Given the description of an element on the screen output the (x, y) to click on. 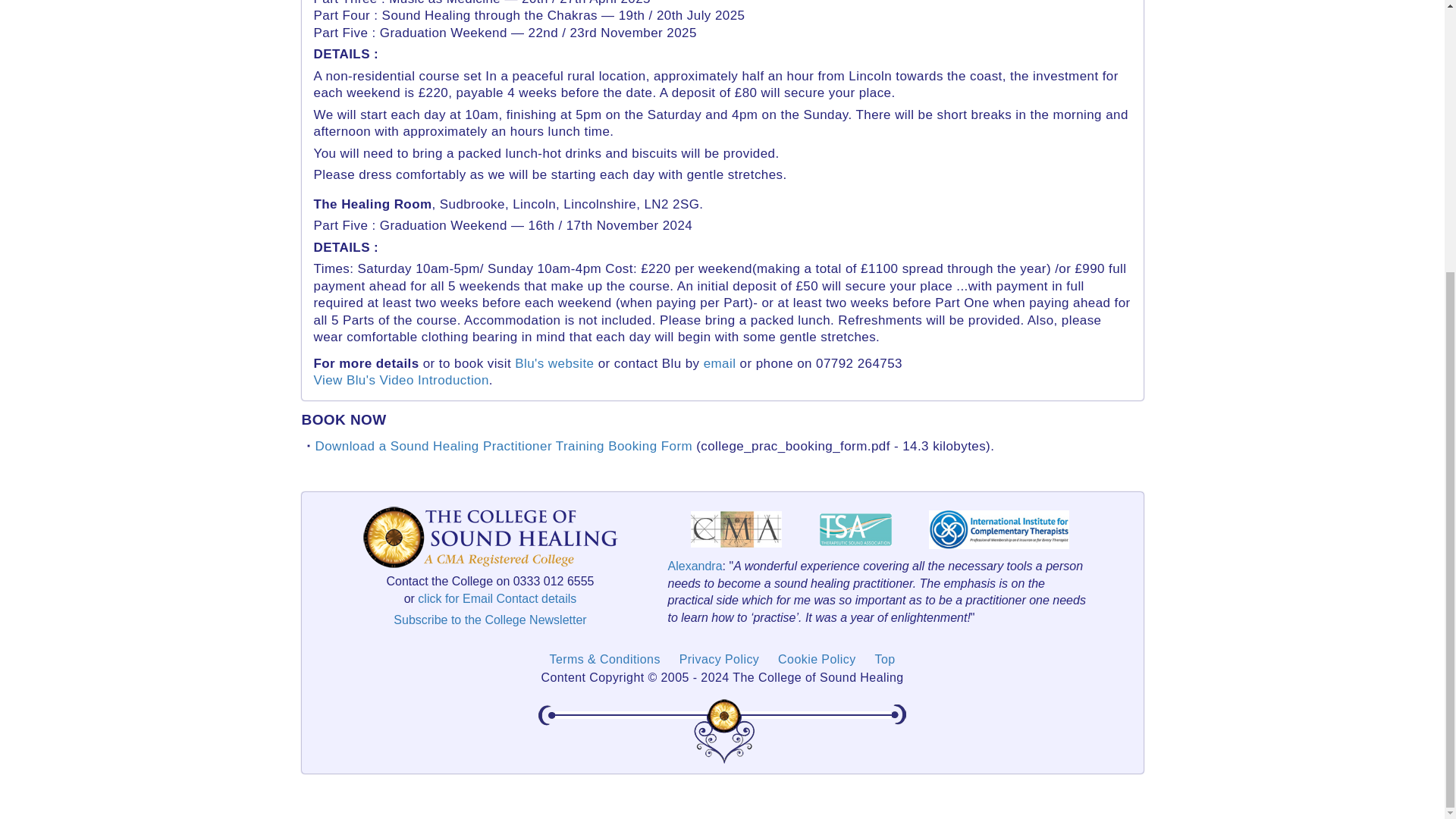
Visit the Complementary Medical Association website (735, 528)
Visit the Therapeutic Sound Association website (856, 528)
Back to the Top (885, 658)
